Given the description of an element on the screen output the (x, y) to click on. 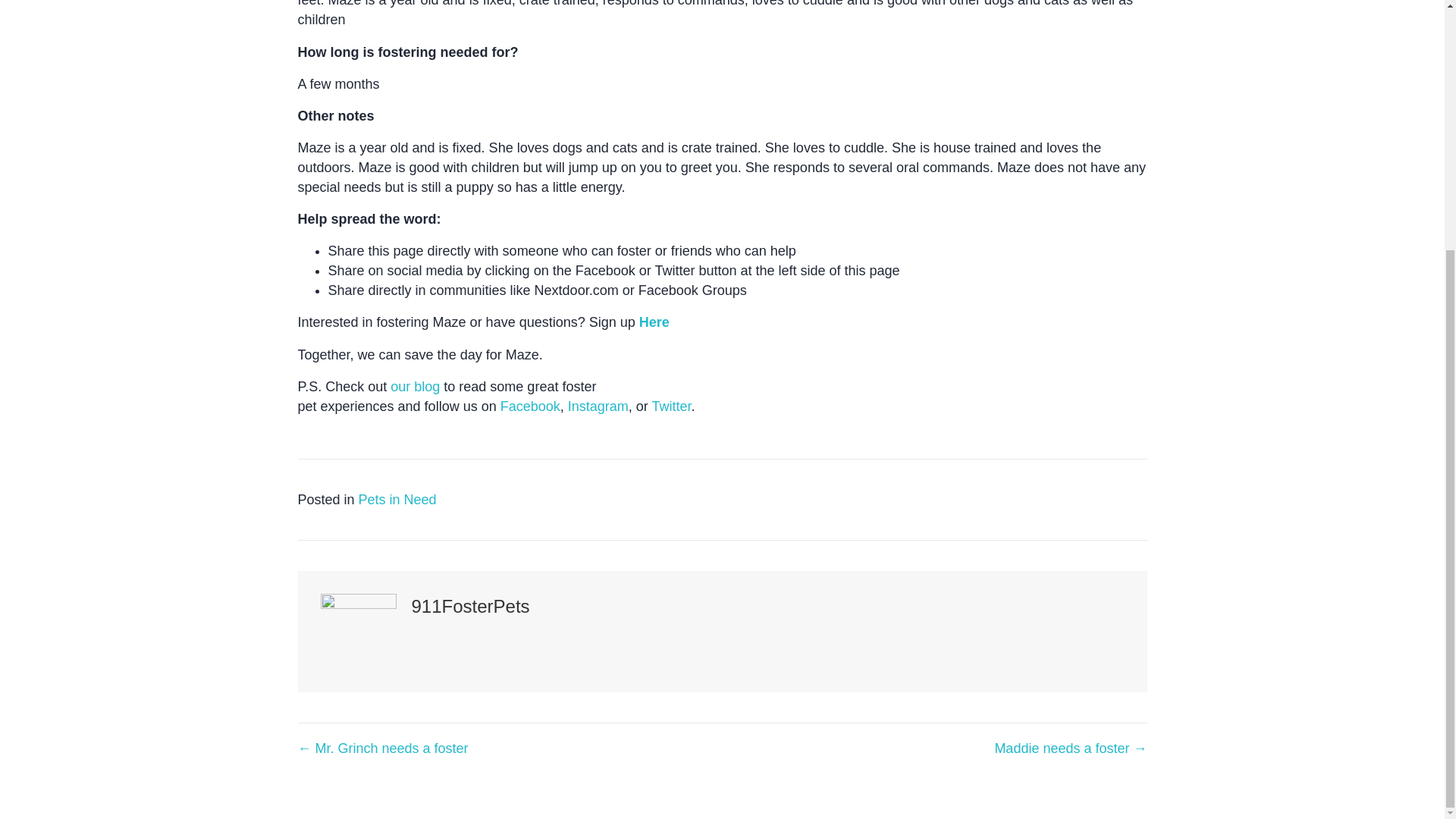
Twitter (670, 406)
Instagram (597, 406)
our blog (414, 386)
Here (654, 322)
Maze's story (654, 322)
Twitter (670, 406)
our blog (414, 386)
Pets in Need (397, 499)
Facebook (530, 406)
Instagram (597, 406)
